Given the description of an element on the screen output the (x, y) to click on. 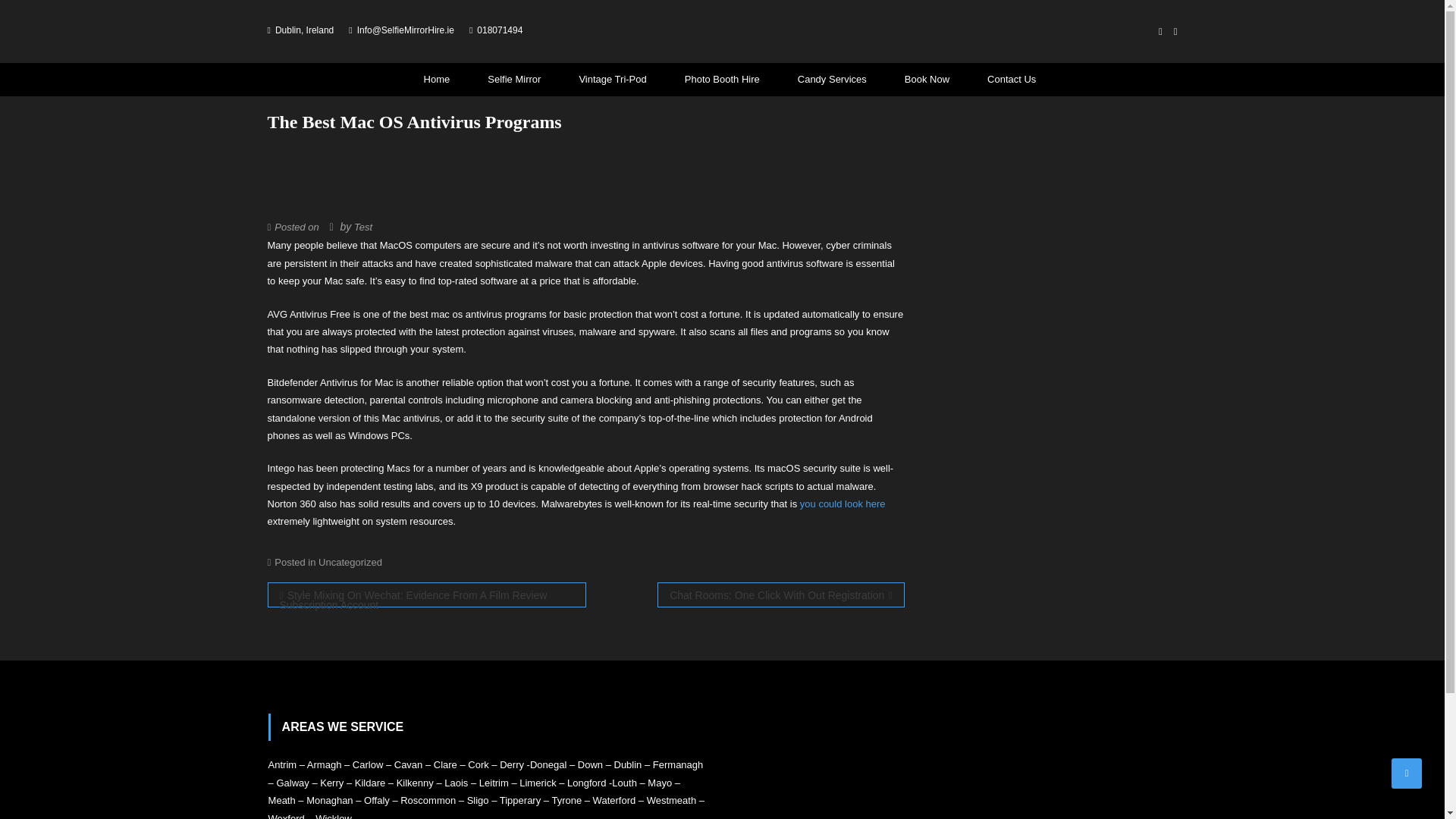
Selfie Mirror (513, 79)
Vintage Tri-Pod (612, 79)
Contact Us (1003, 79)
Chat Rooms: One Click With Out Registration (781, 594)
Photo Booth Hire (721, 79)
Test (362, 226)
Uncategorized (349, 562)
Book Now (926, 79)
Candy Services (832, 79)
